Given the description of an element on the screen output the (x, y) to click on. 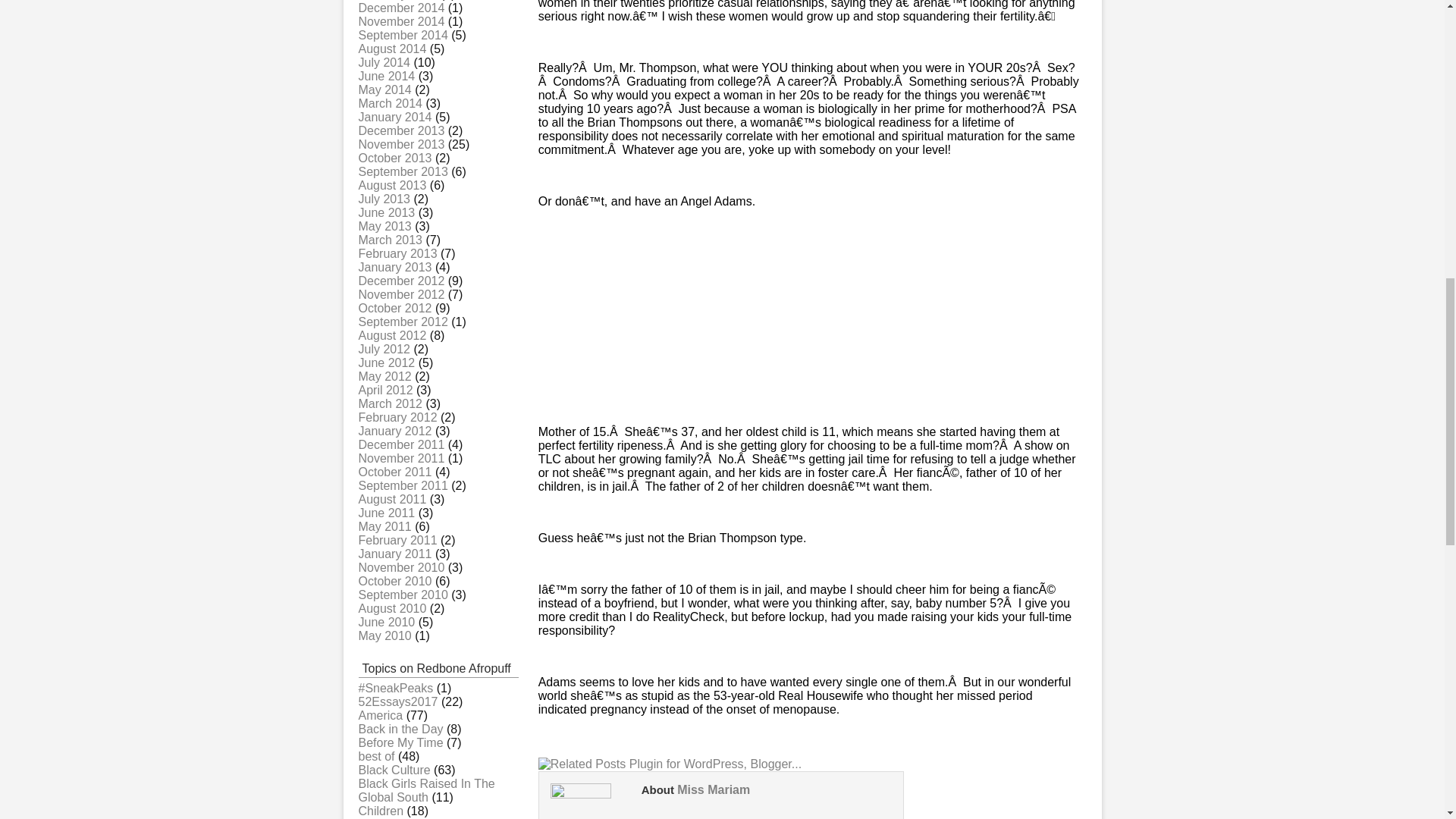
June 2014 (386, 75)
July 2014 (384, 62)
December 2014 (401, 7)
August 2014 (392, 48)
November 2014 (401, 21)
September 2014 (402, 34)
Posts by Miss Mariam (713, 789)
